Given the description of an element on the screen output the (x, y) to click on. 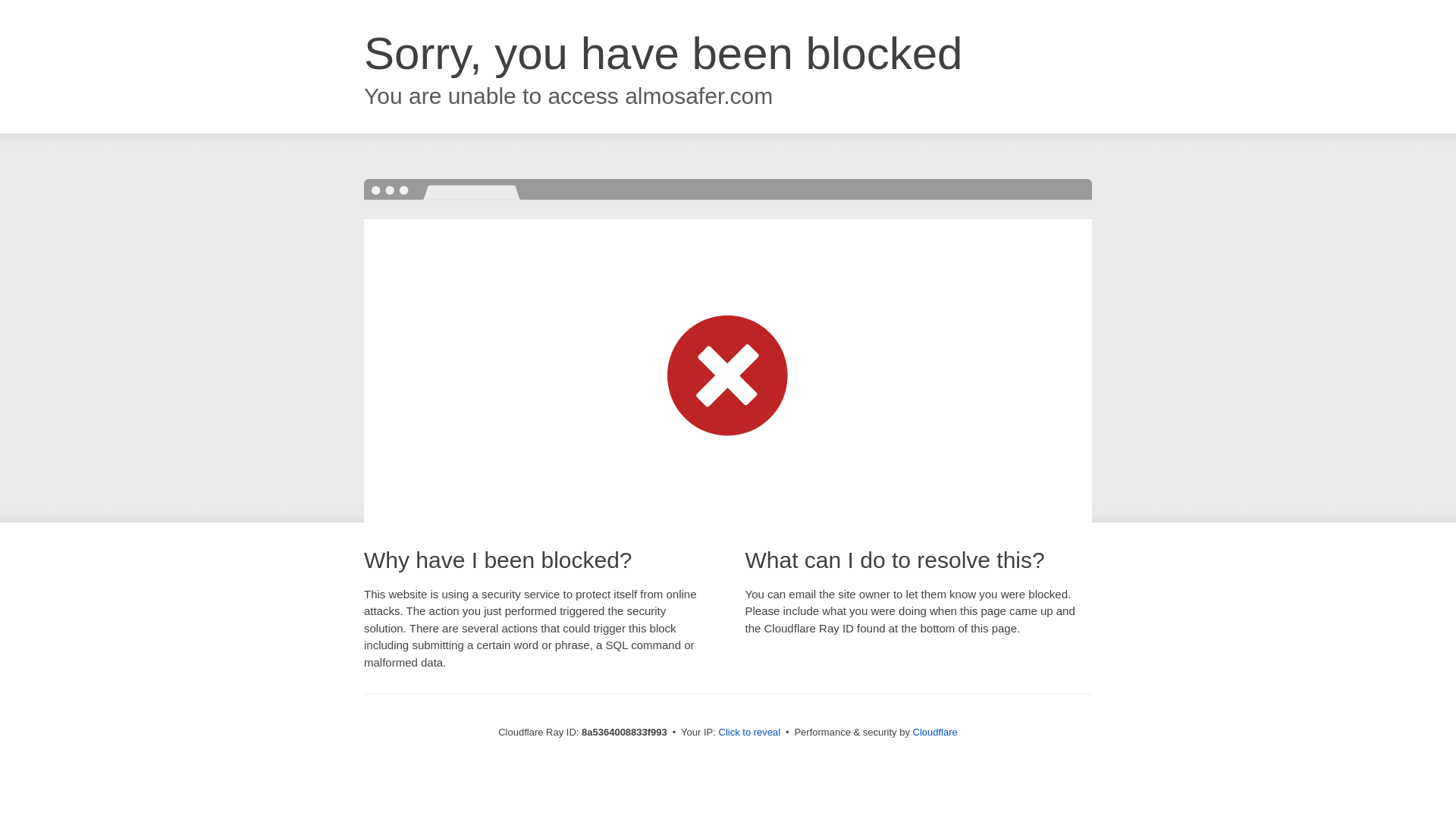
Click to reveal (749, 732)
Cloudflare (935, 731)
